Given the description of an element on the screen output the (x, y) to click on. 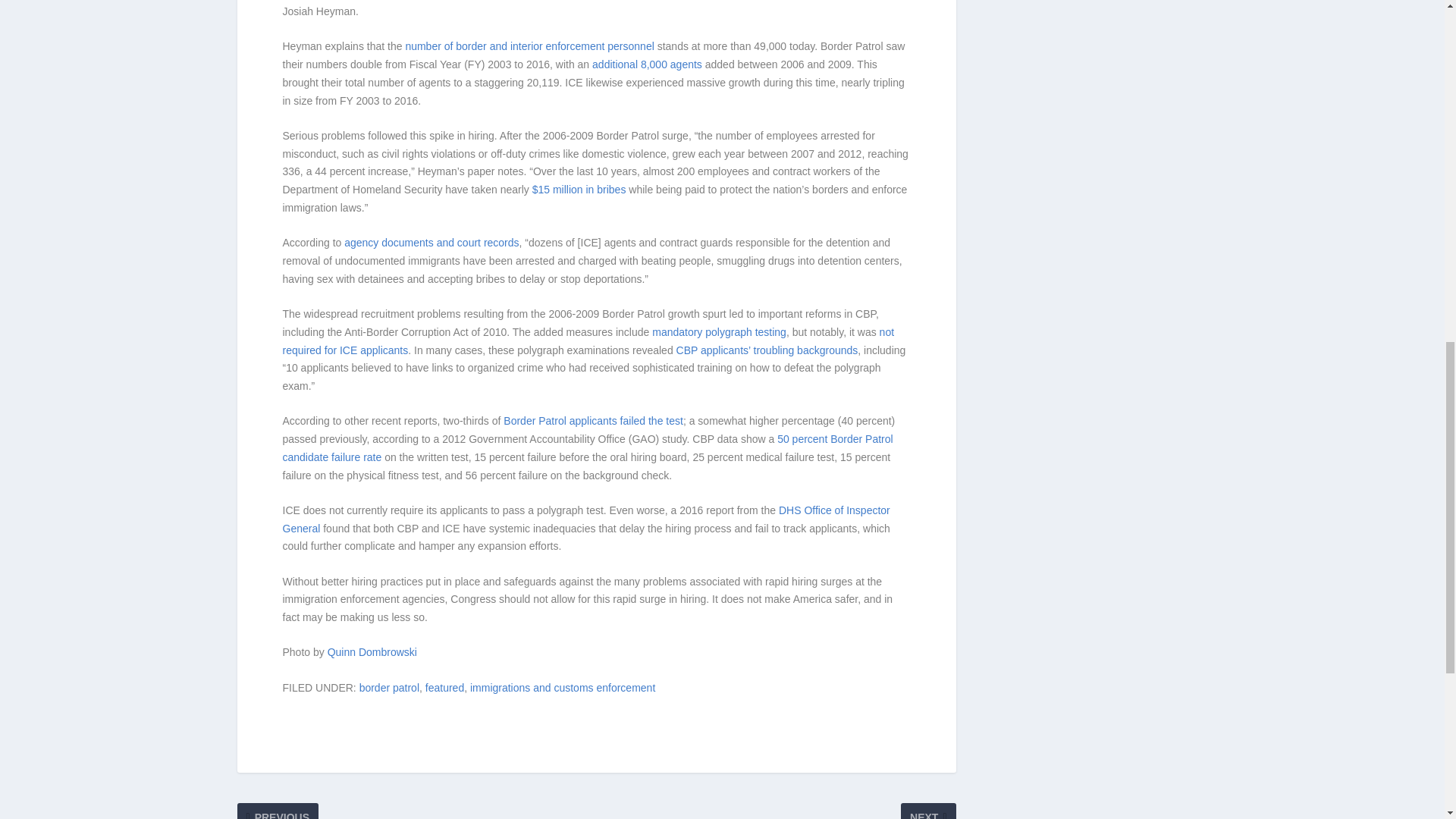
Quinn Dombrowski (371, 652)
mandatory polygraph testing (719, 331)
DHS Office of Inspector General (585, 519)
number of border and interior enforcement personnel (528, 46)
border patrol (389, 687)
50 percent Border Patrol candidate failure rate (587, 448)
not required for ICE applicants (587, 340)
additional 8,000 agents (646, 64)
agency documents and court records (430, 242)
featured (444, 687)
Border Patrol applicants failed the test (592, 420)
immigrations and customs enforcement (562, 687)
